Given the description of an element on the screen output the (x, y) to click on. 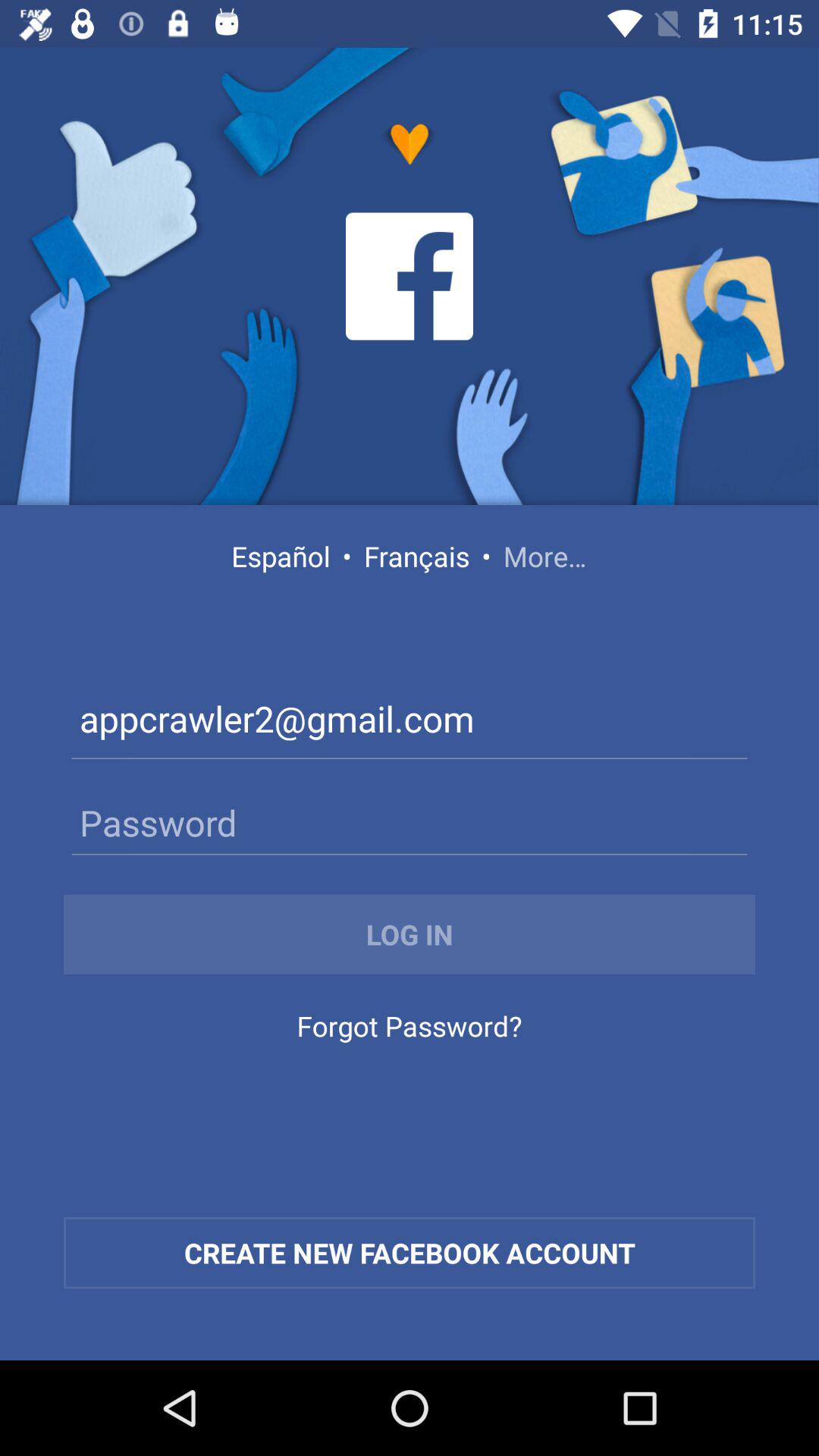
open item below the log in icon (409, 1029)
